Given the description of an element on the screen output the (x, y) to click on. 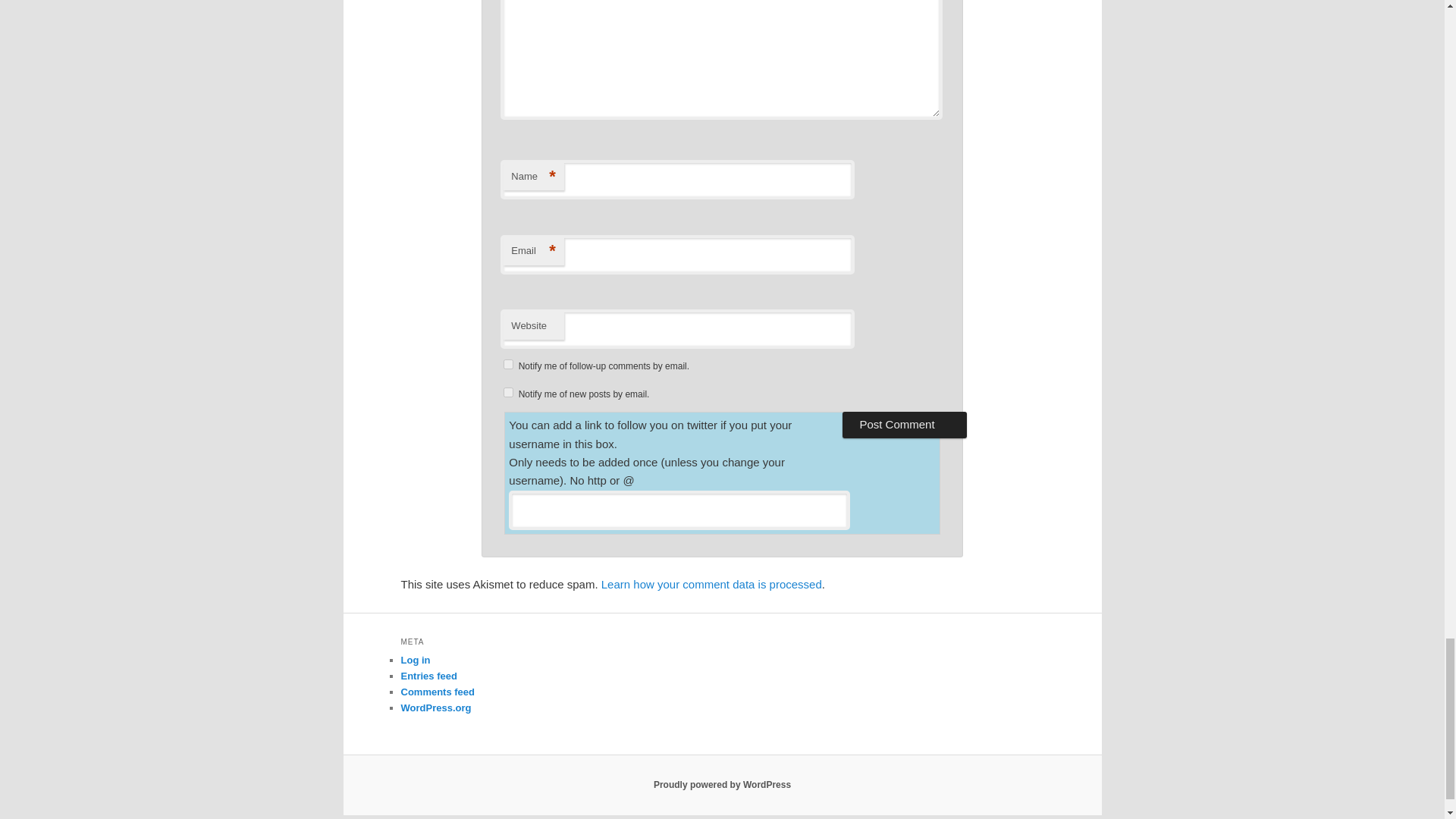
Proudly powered by WordPress (721, 784)
Log in (414, 659)
Post Comment (904, 424)
Entries feed (428, 675)
Comments feed (437, 691)
WordPress.org (435, 707)
Post Comment (904, 424)
subscribe (508, 392)
Learn how your comment data is processed (711, 584)
subscribe (508, 364)
